Given the description of an element on the screen output the (x, y) to click on. 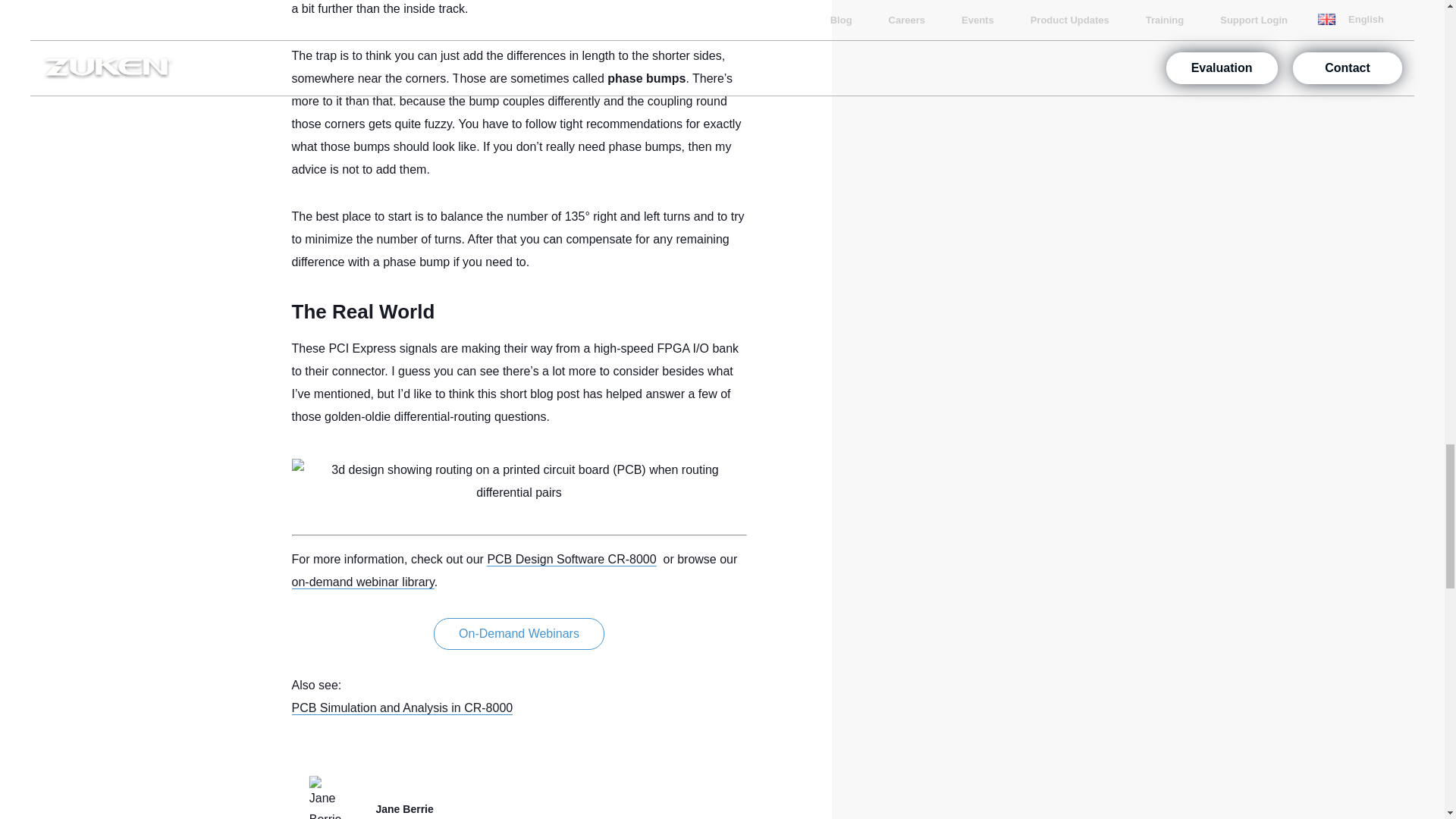
CR-8000 - PCB design software (571, 559)
PCB Simulation and Analysis tools in CR-8000 (401, 707)
On-Demand Webinars (518, 634)
